Given the description of an element on the screen output the (x, y) to click on. 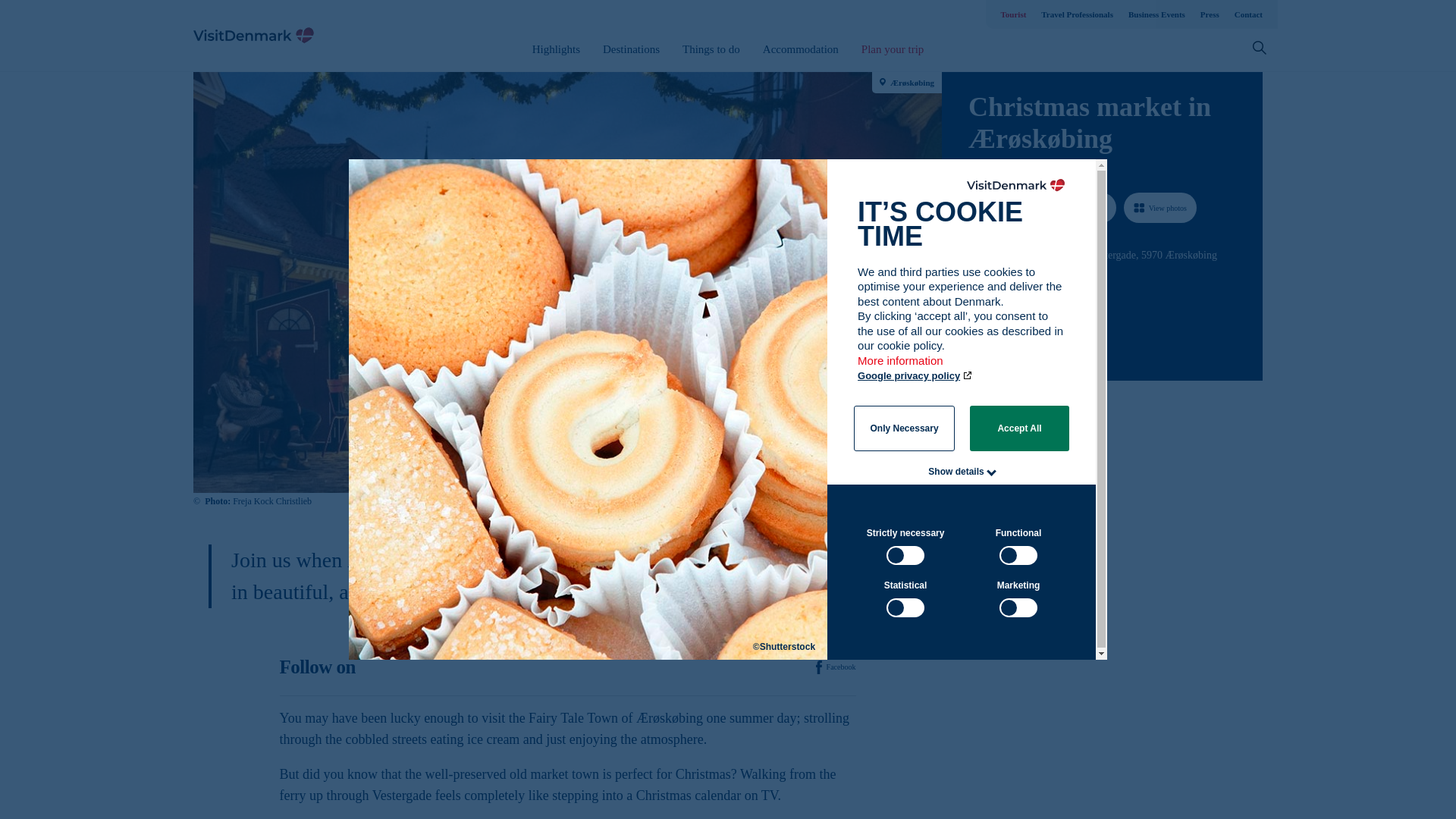
Accept All (1018, 428)
Only Necessary (904, 428)
More information (900, 367)
Show details (956, 471)
Google privacy policy (915, 375)
Path (973, 282)
